Given the description of an element on the screen output the (x, y) to click on. 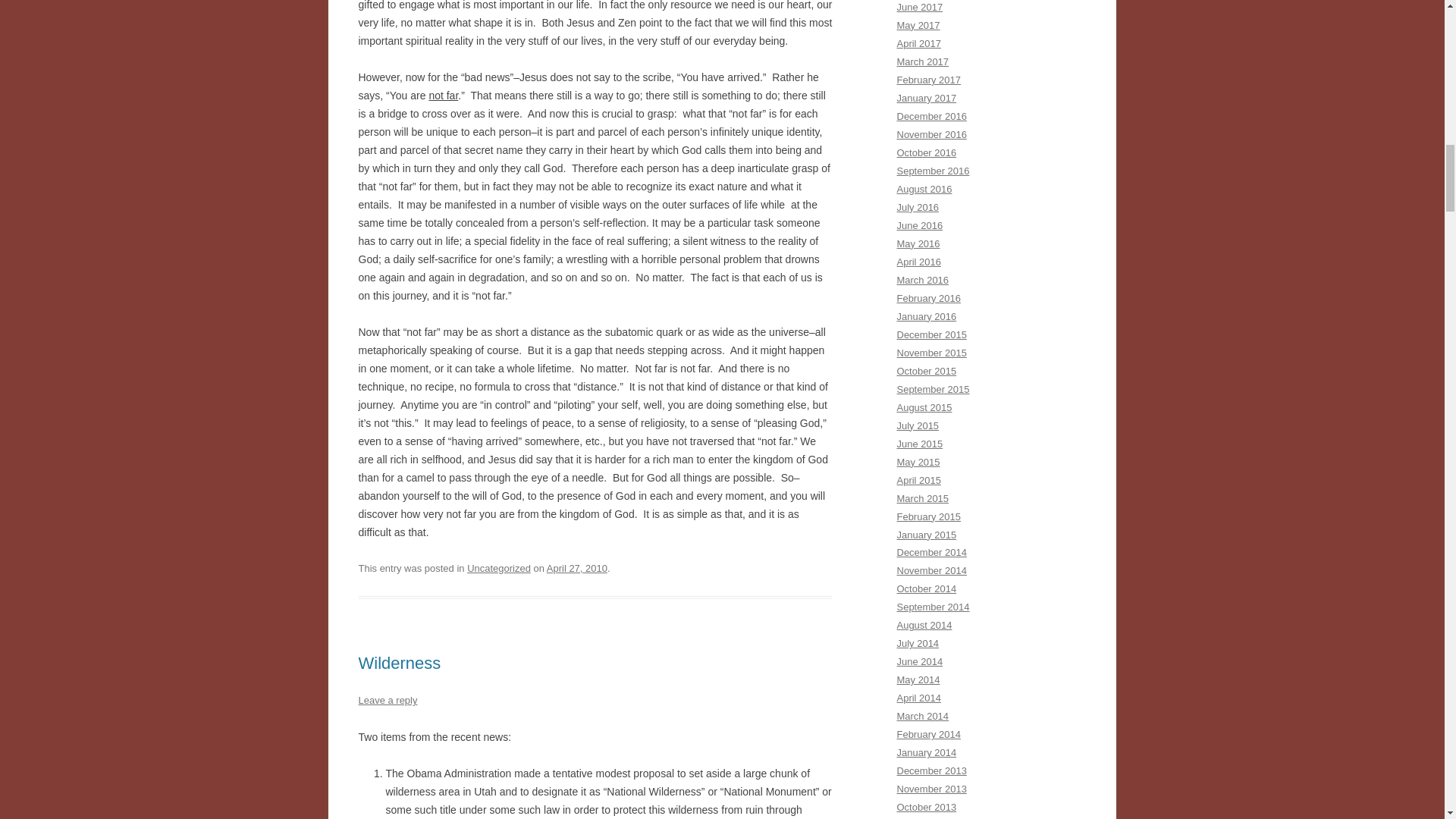
7:24 pm (577, 568)
Leave a reply (387, 699)
Uncategorized (499, 568)
April 27, 2010 (577, 568)
Wilderness (399, 662)
